Given the description of an element on the screen output the (x, y) to click on. 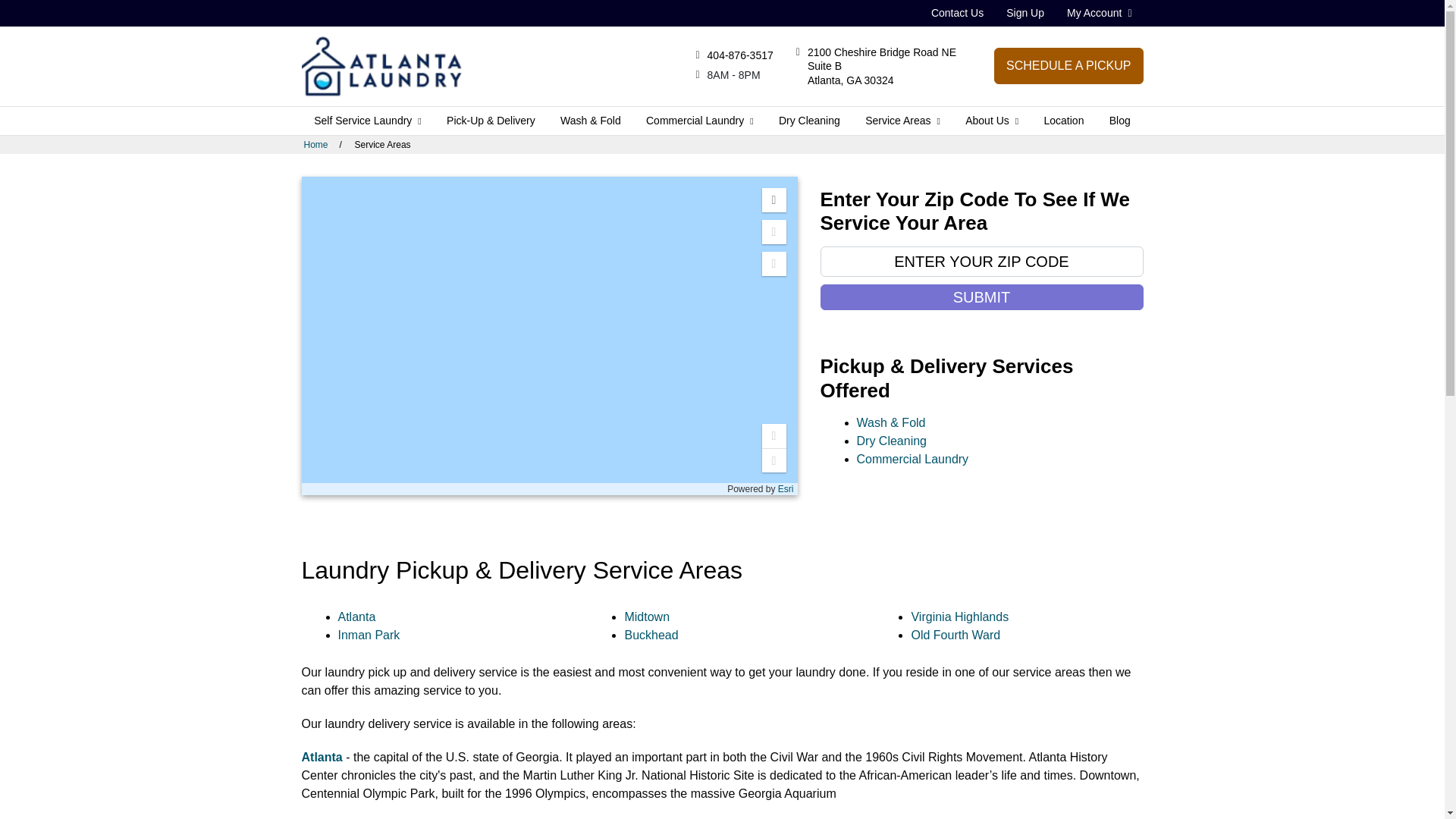
Self Service Laundry (367, 121)
Self Service Laundry (367, 121)
Location (1063, 121)
Service Areas (901, 121)
Commercial Laundry (699, 121)
Schedule a Pickup (1068, 65)
404-876-3517 (740, 55)
Sign Up (1024, 12)
Dry Cleaning (808, 121)
Contact Us (957, 12)
